Given the description of an element on the screen output the (x, y) to click on. 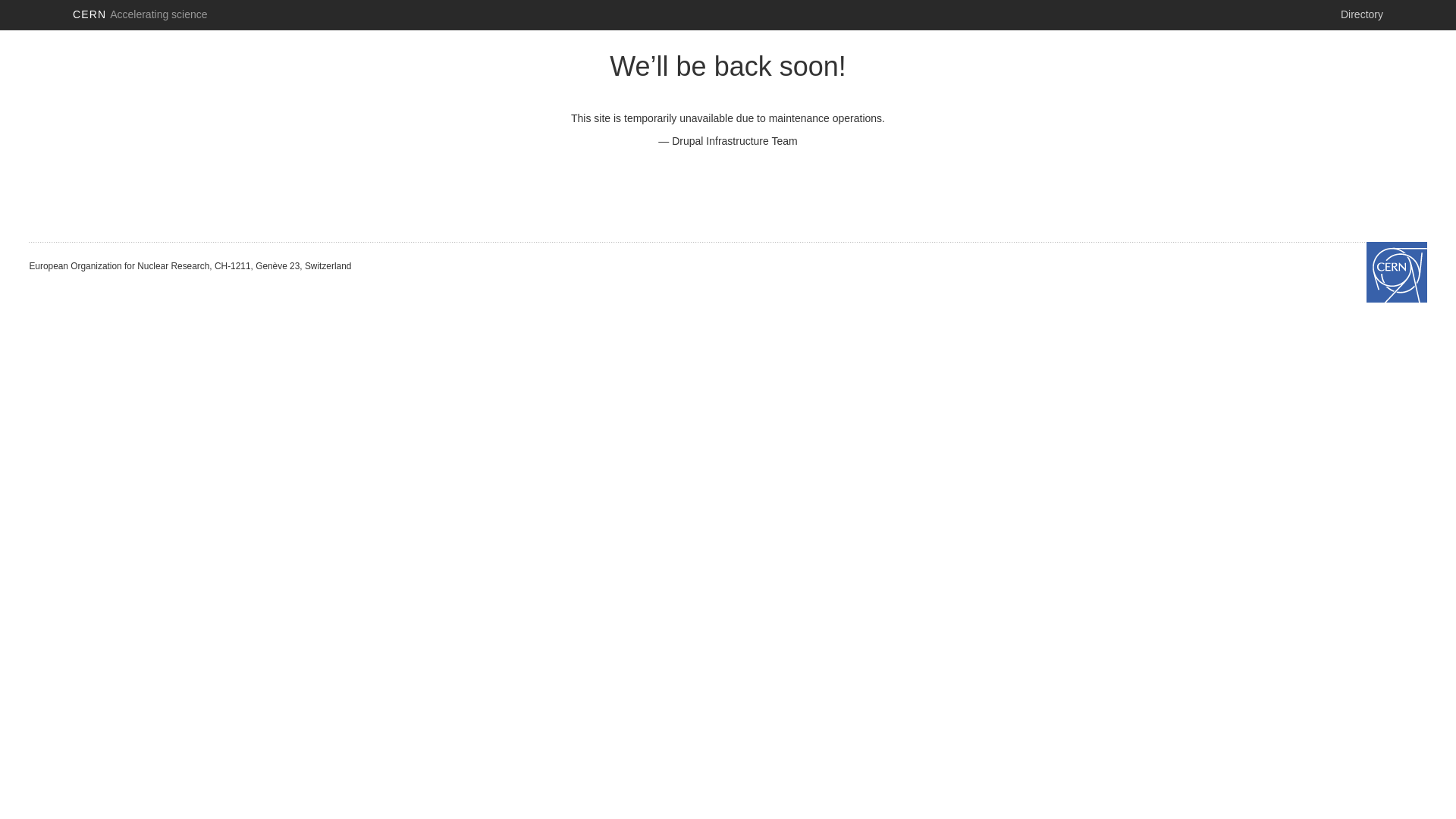
CERN Accelerating science Element type: text (139, 14)
Directory Element type: text (1361, 14)
